Given the description of an element on the screen output the (x, y) to click on. 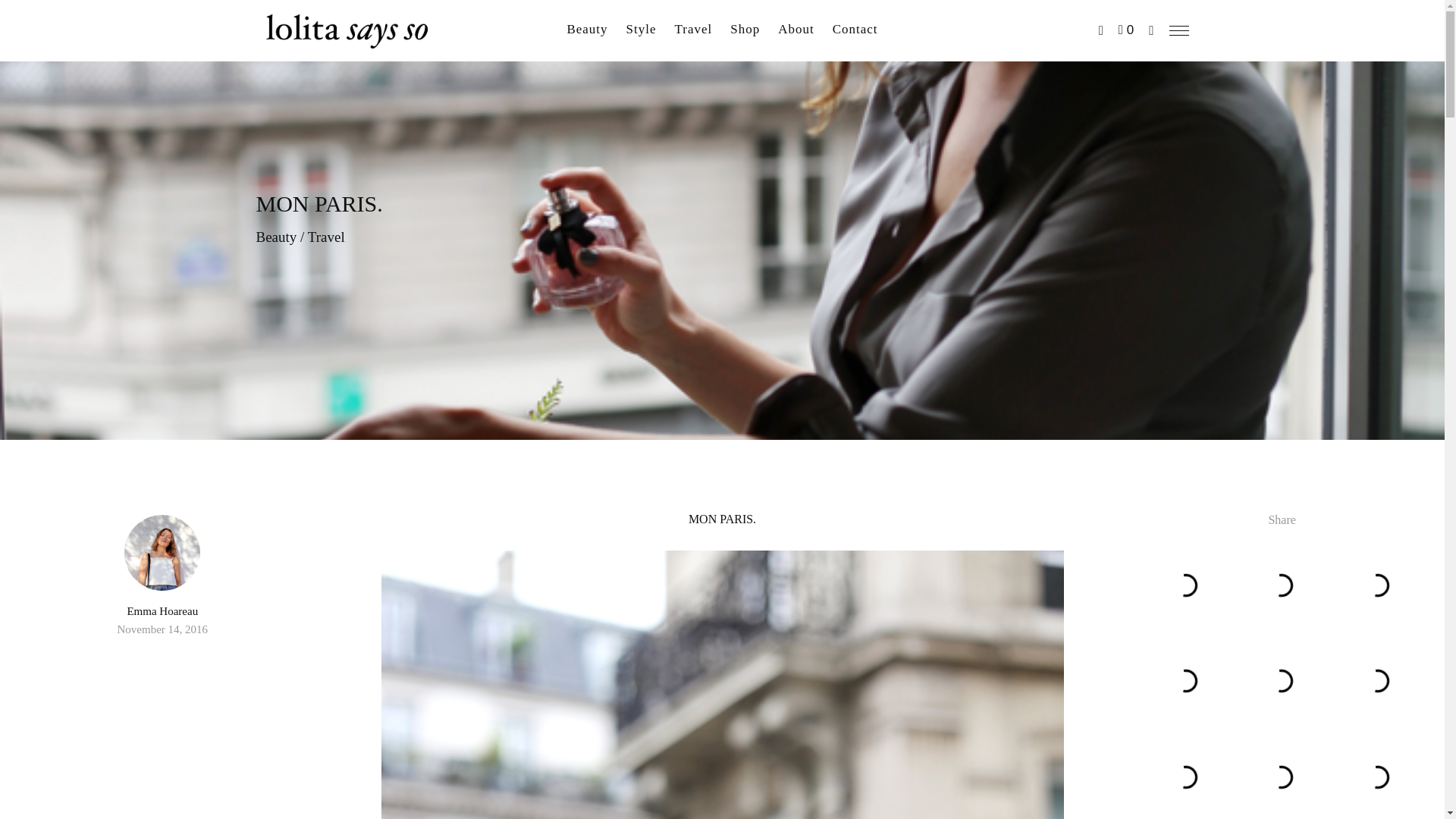
Beauty (276, 236)
Travel (326, 236)
View all posts in Travel (326, 236)
Emma Hoareau (162, 611)
Account (1100, 30)
View all posts in Beauty (276, 236)
